Given the description of an element on the screen output the (x, y) to click on. 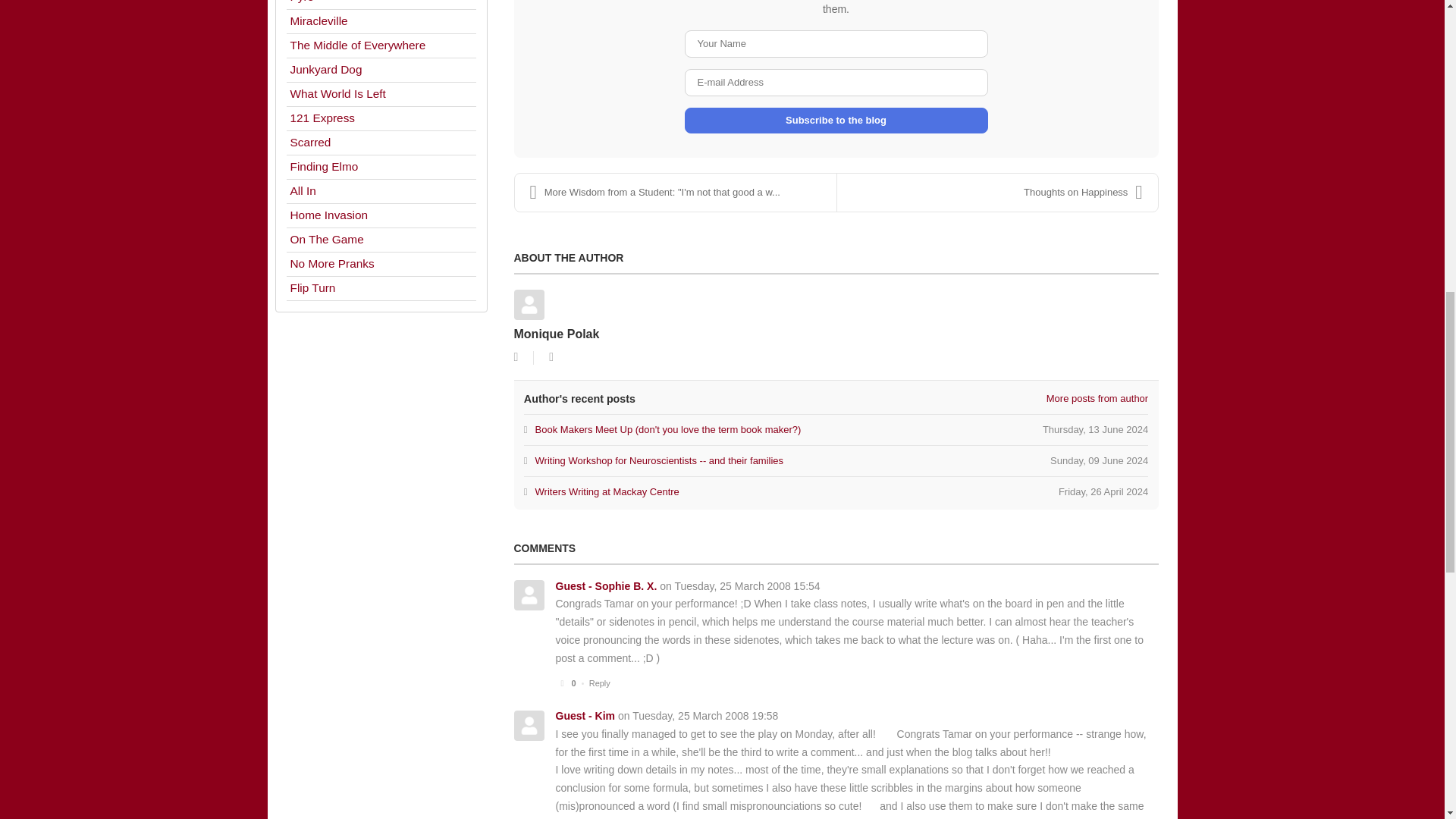
Monique Polak (556, 333)
Thoughts on Happiness (997, 192)
More posts from author (1097, 398)
More Wisdom from a Student: "I'm not that good a w... (674, 192)
Subscribe to the blog (836, 491)
:D (835, 120)
:D (886, 734)
